Given the description of an element on the screen output the (x, y) to click on. 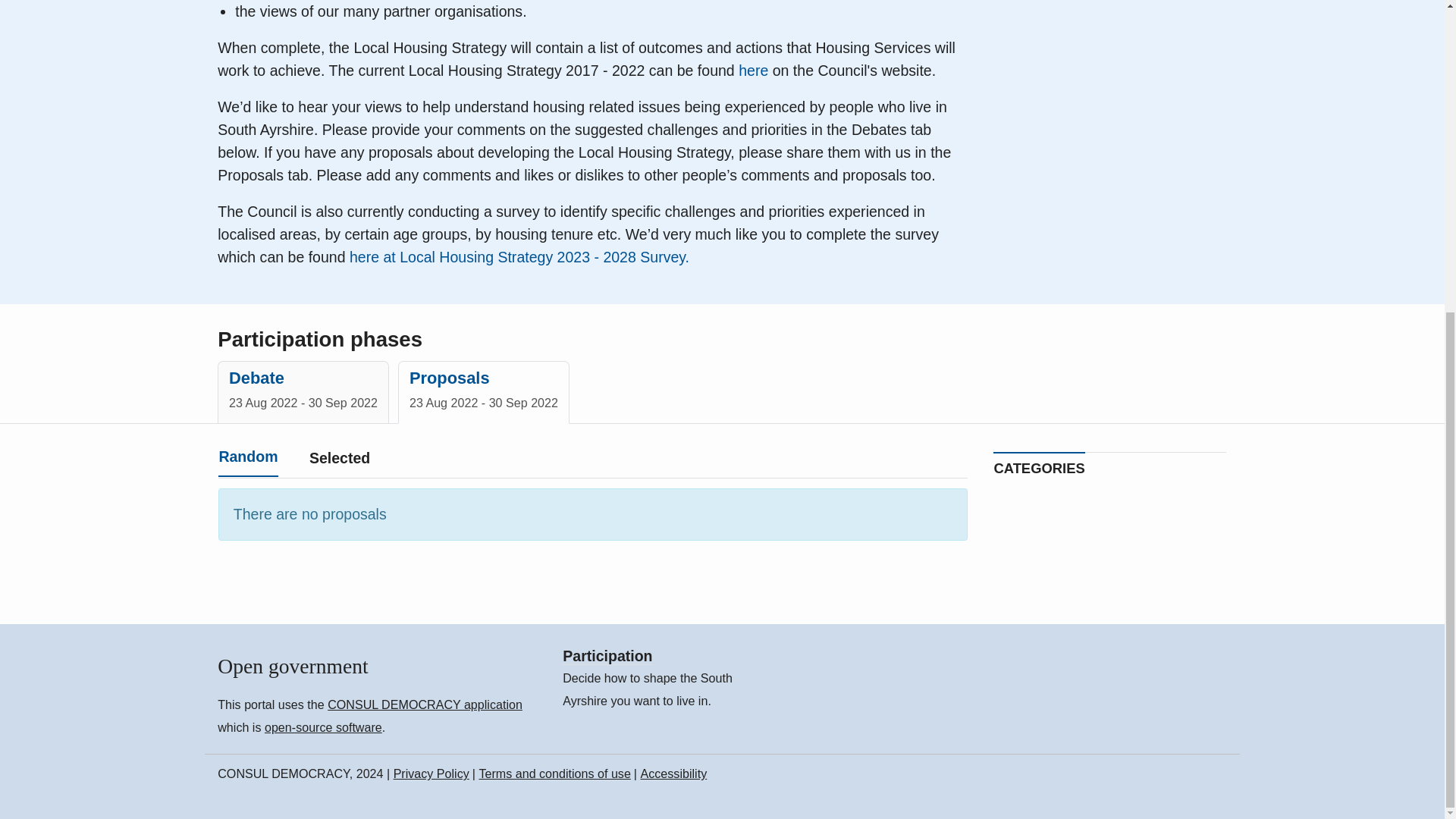
here at Local Housing Strategy 2023 - 2028 Survey. (518, 256)
Participation (607, 656)
CONSUL DEMOCRACY application (303, 390)
here (424, 704)
Open government (753, 70)
Selected (292, 666)
open-source software (338, 458)
Terms and conditions of use (322, 726)
Accessibility (554, 773)
Privacy Policy (673, 773)
